Given the description of an element on the screen output the (x, y) to click on. 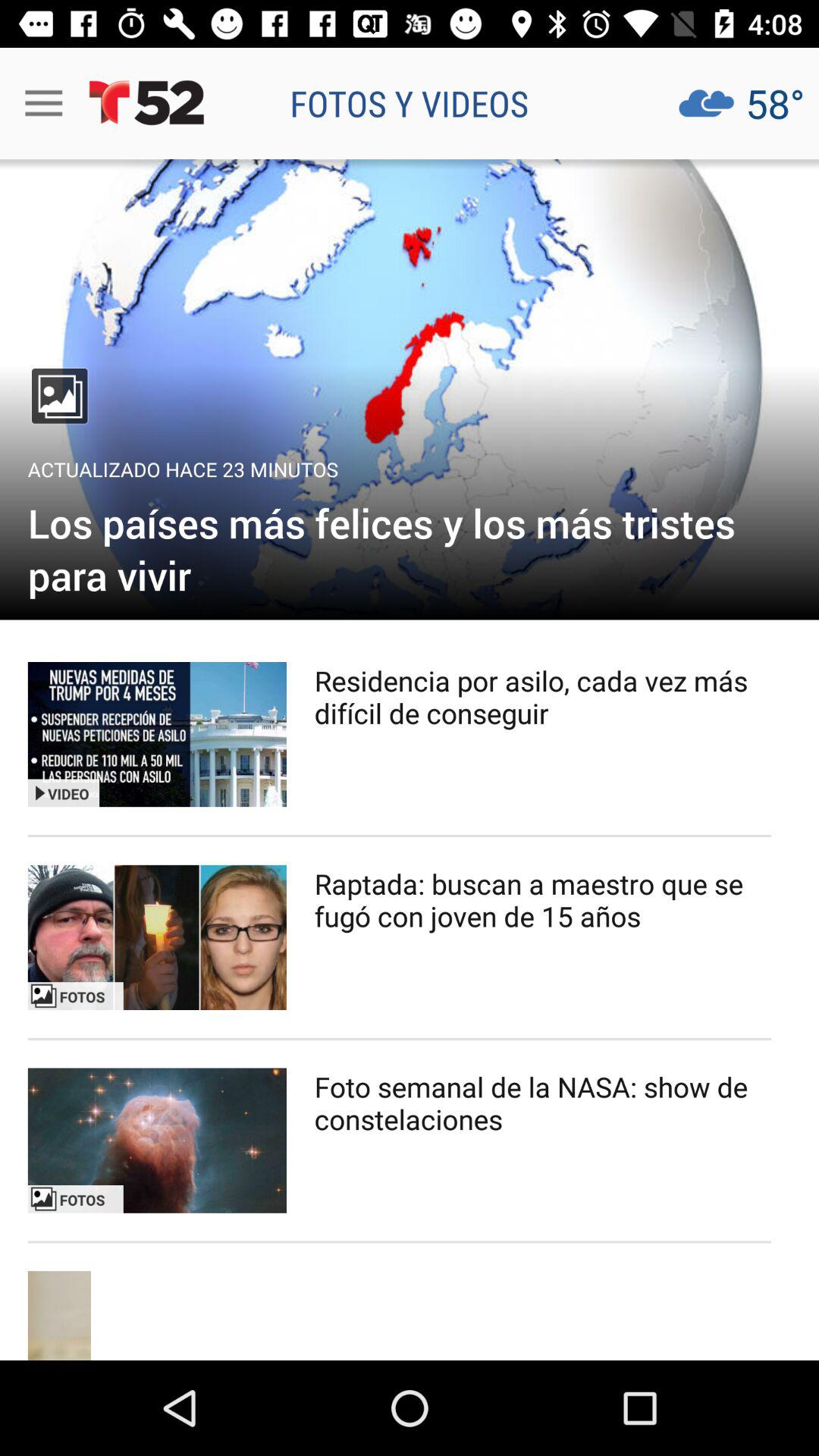
visit website (409, 389)
